Given the description of an element on the screen output the (x, y) to click on. 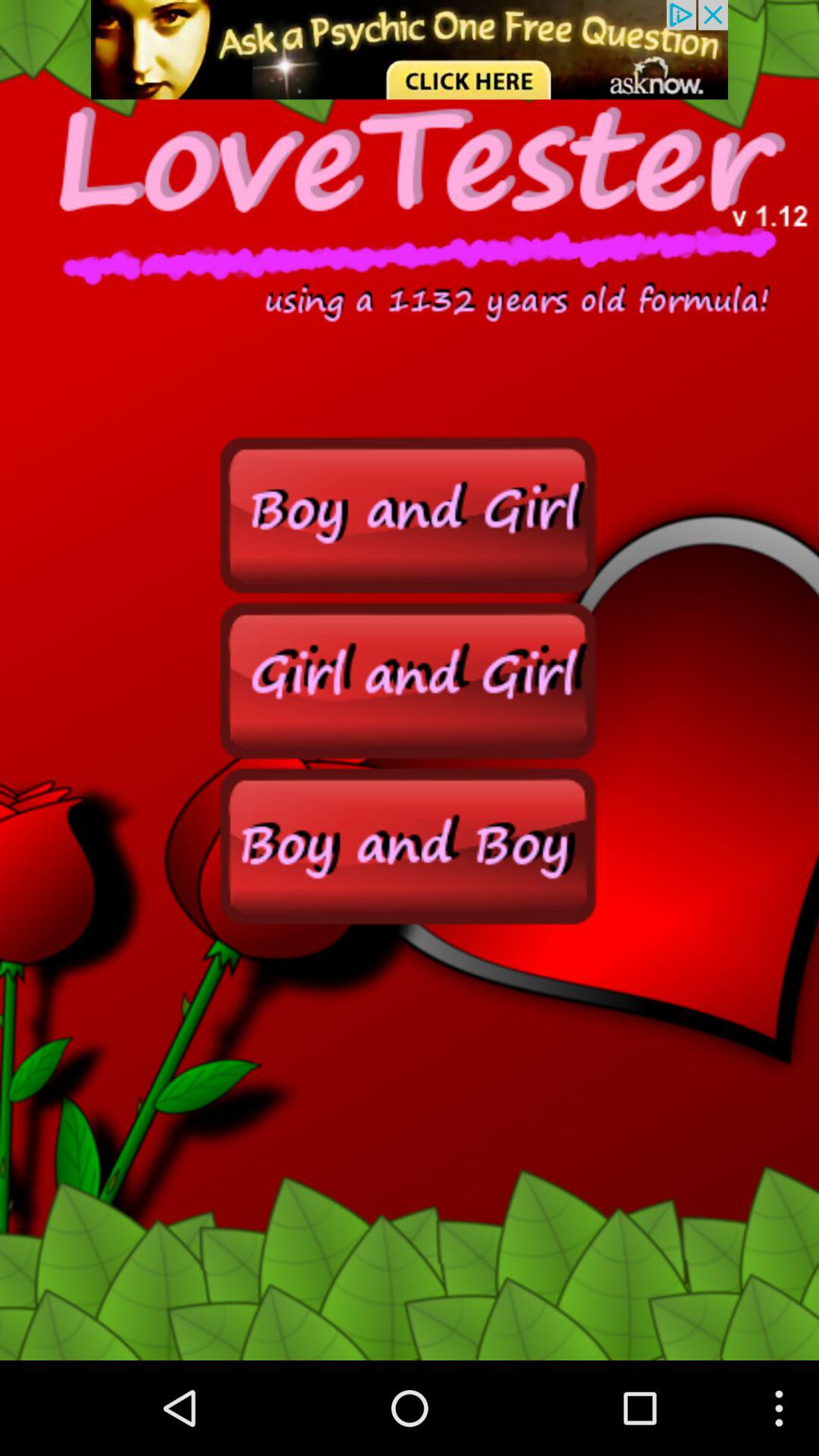
select option (409, 679)
